Given the description of an element on the screen output the (x, y) to click on. 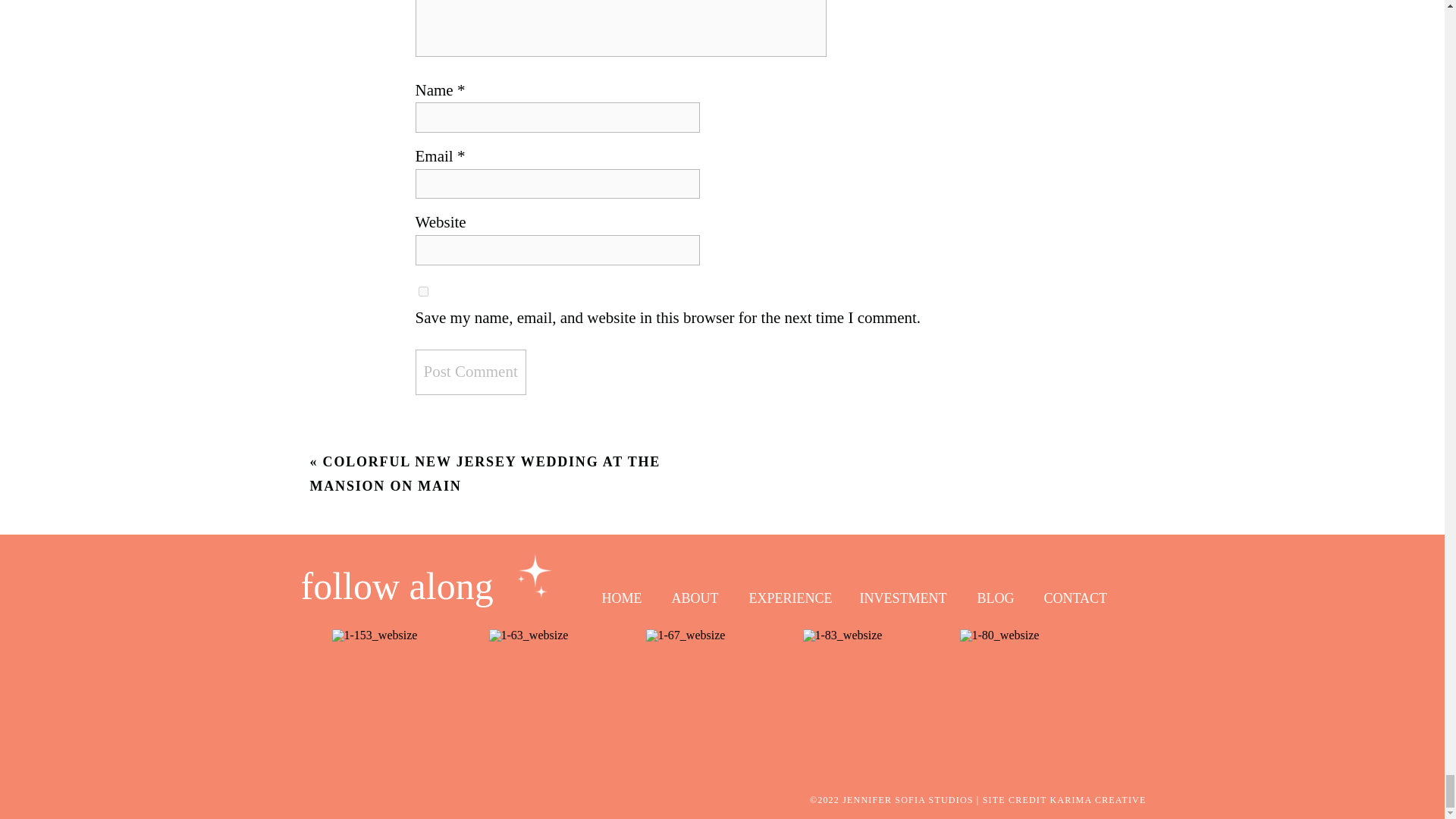
yes (423, 291)
EXPERIENCE (795, 596)
COLORFUL NEW JERSEY WEDDING AT THE MANSION ON MAIN (484, 473)
follow along (417, 589)
BLOG (996, 596)
ABOUT (691, 596)
CONTACT (1075, 596)
Post Comment (469, 371)
INVESTMENT (902, 596)
Post Comment (469, 371)
